Given the description of an element on the screen output the (x, y) to click on. 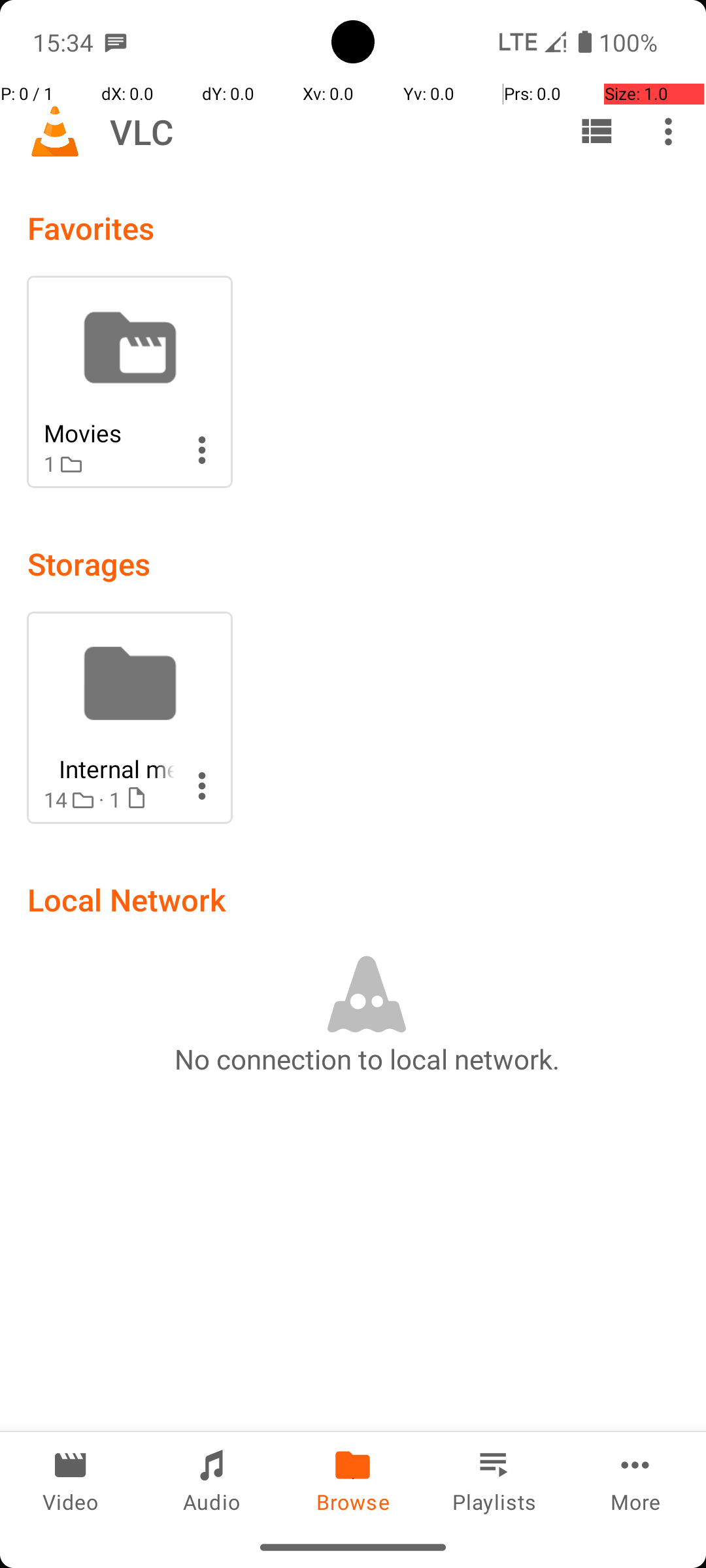
Folder: Internal memory, 14 subfolders, 1 media file Element type: androidx.cardview.widget.CardView (129, 717)
14 §*§ · 1 *§* Element type: android.widget.TextView (108, 799)
